Given the description of an element on the screen output the (x, y) to click on. 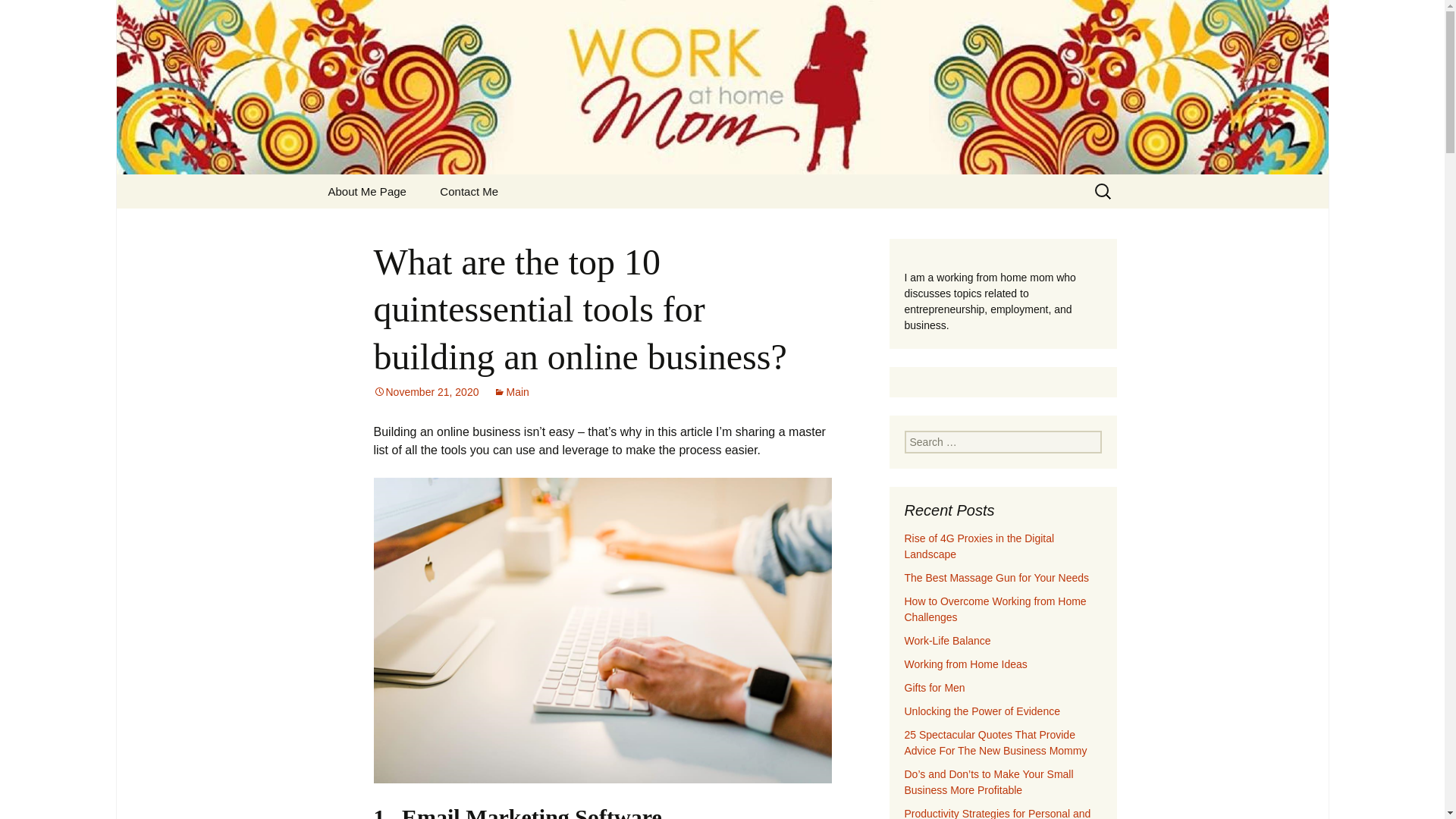
Search (18, 15)
November 21, 2020 (425, 391)
Contact Me (469, 191)
Rise of 4G Proxies in the Digital Landscape (933, 687)
Working from Home Ideas (979, 546)
Main (965, 664)
